Given the description of an element on the screen output the (x, y) to click on. 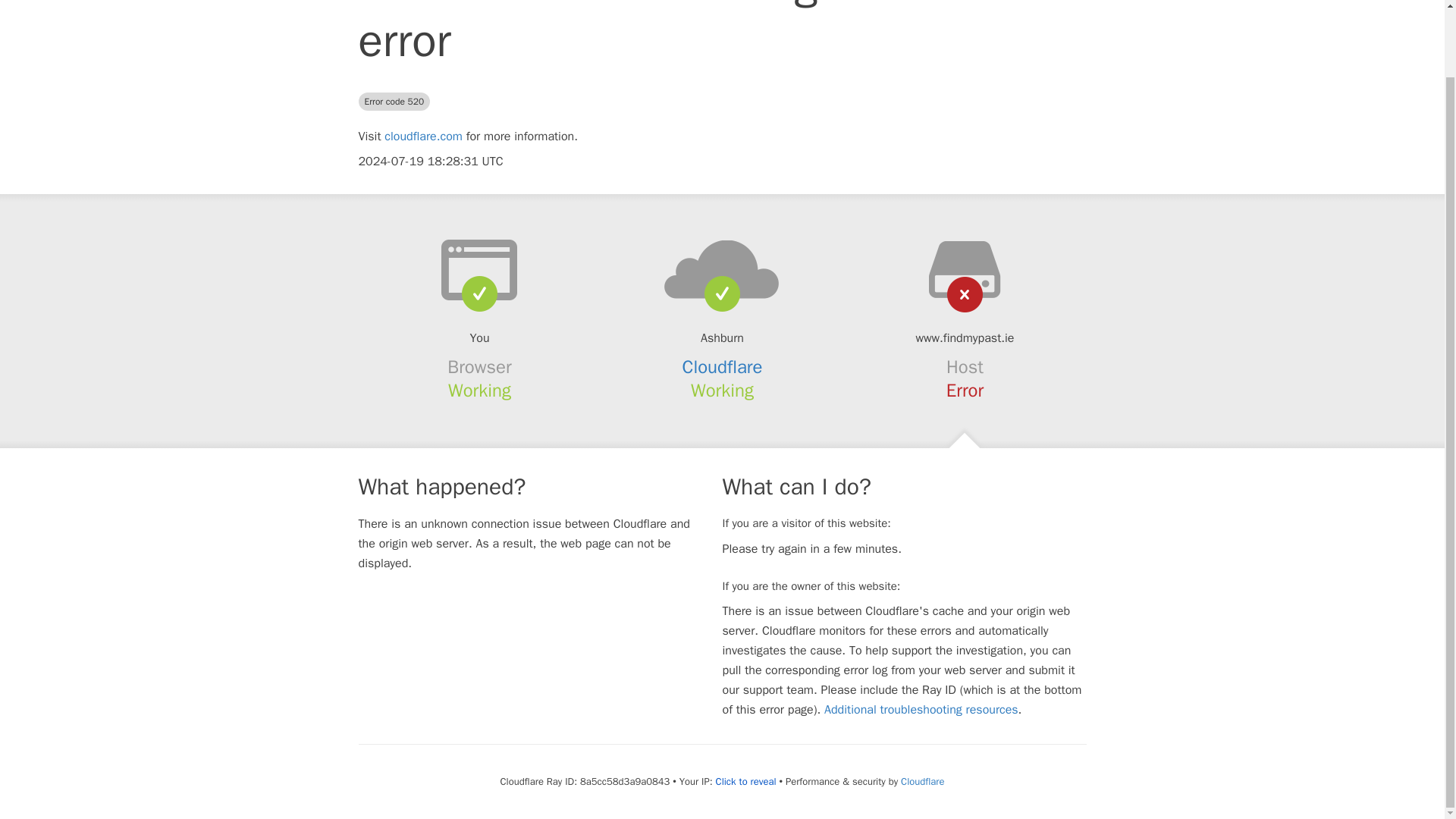
Cloudflare (722, 366)
Additional troubleshooting resources (920, 709)
Cloudflare (922, 780)
cloudflare.com (423, 136)
Click to reveal (746, 781)
